Given the description of an element on the screen output the (x, y) to click on. 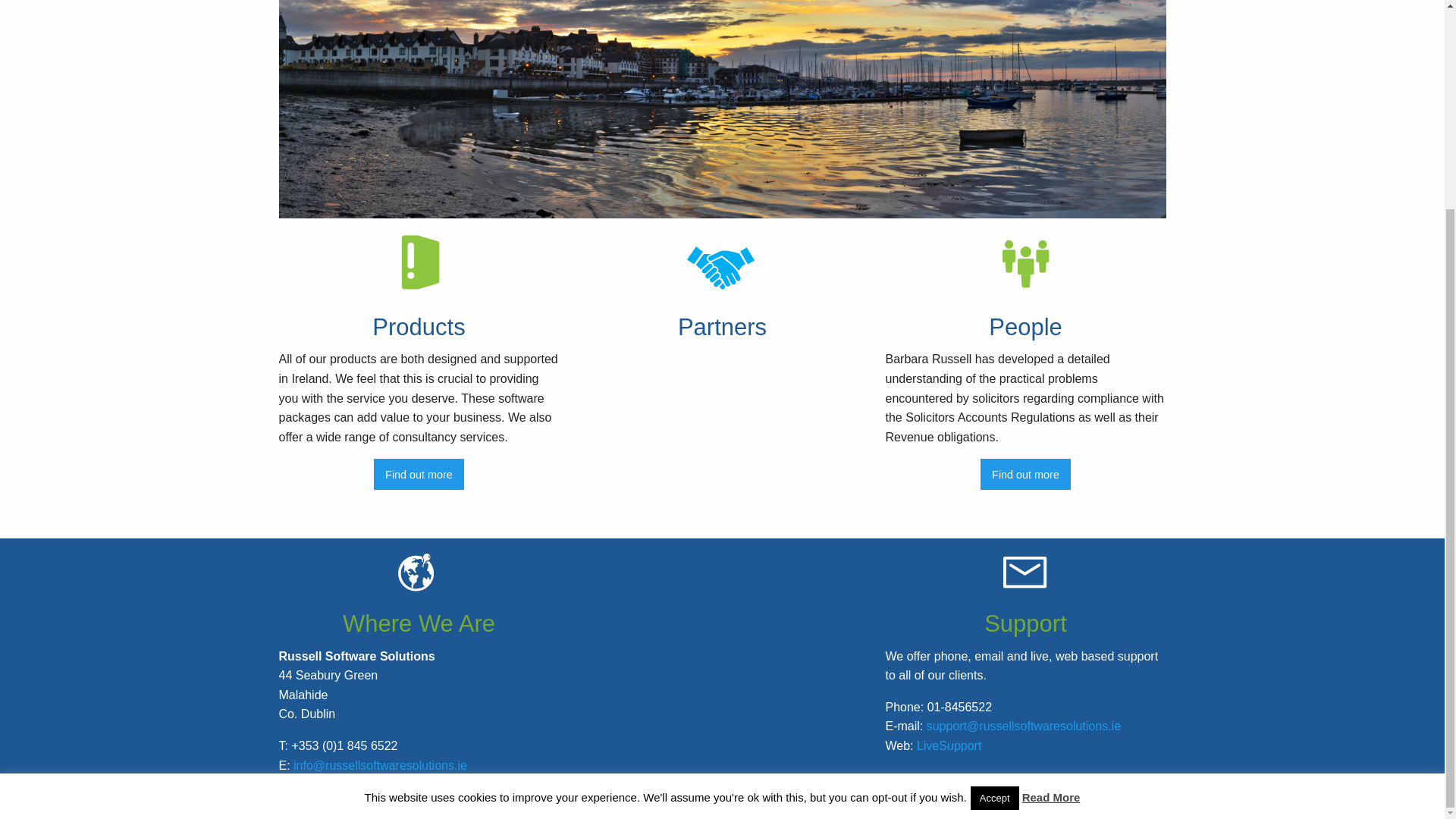
Read More (1051, 526)
Accept (995, 526)
Find out more (1025, 473)
LiveSupport (949, 745)
Find out more (419, 473)
